Given the description of an element on the screen output the (x, y) to click on. 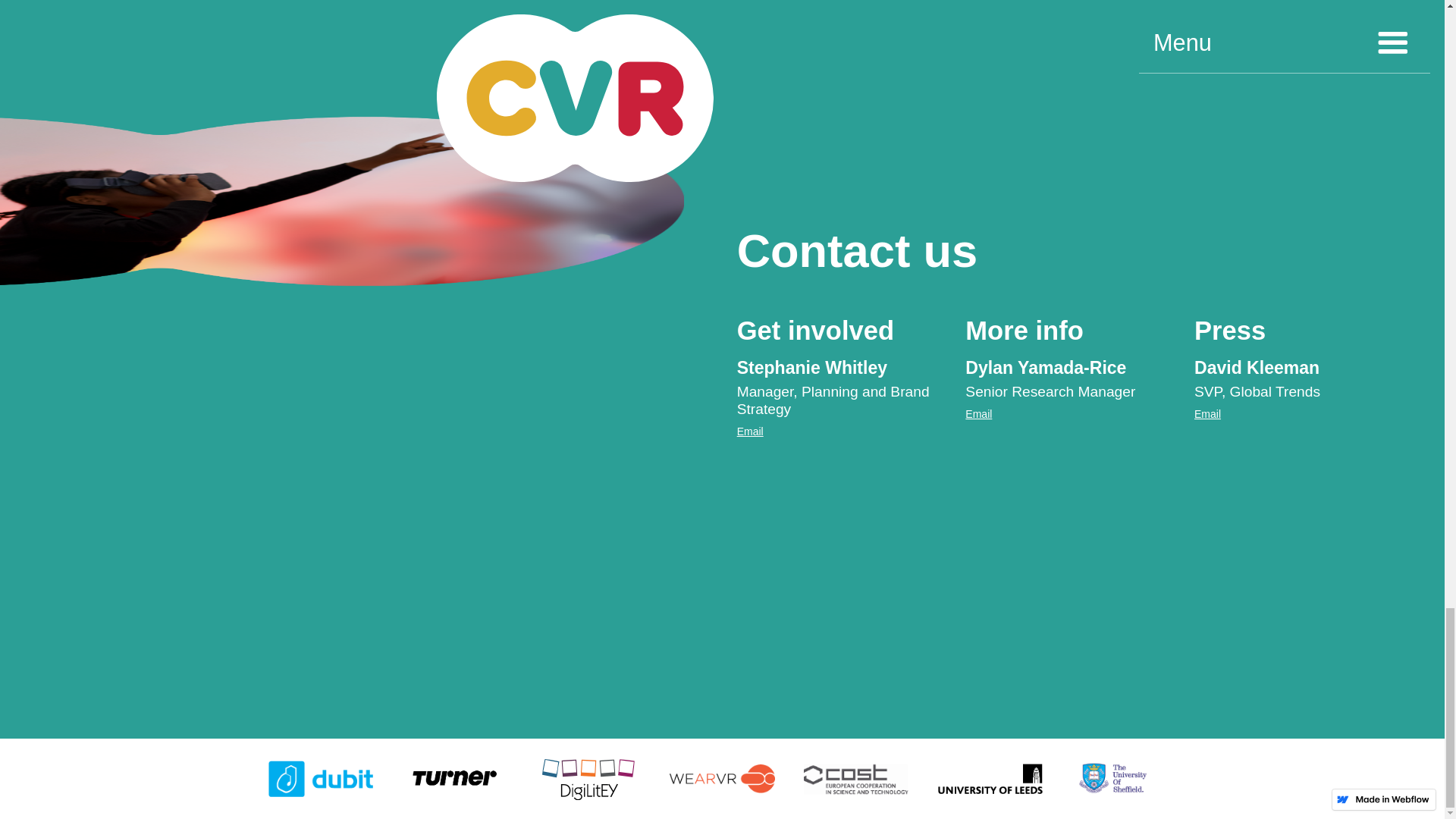
Email (1207, 413)
Email (978, 413)
Email (749, 431)
